Given the description of an element on the screen output the (x, y) to click on. 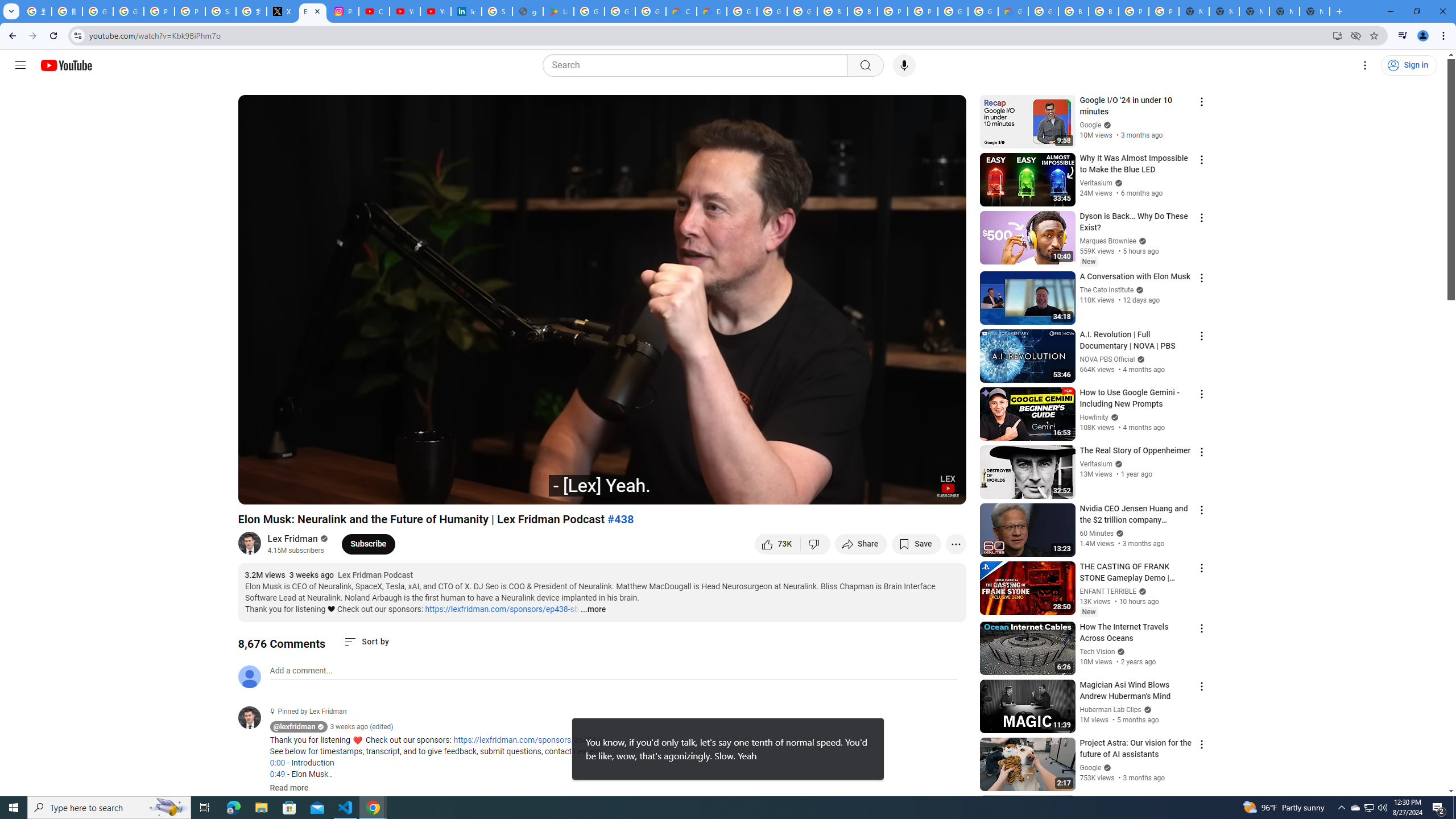
Google Cloud Estimate Summary (1012, 11)
Save to playlist (915, 543)
Miniplayer (i) (890, 490)
Google Cloud Platform (982, 11)
Install YouTube (1336, 35)
Customer Care | Google Cloud (681, 11)
